Given the description of an element on the screen output the (x, y) to click on. 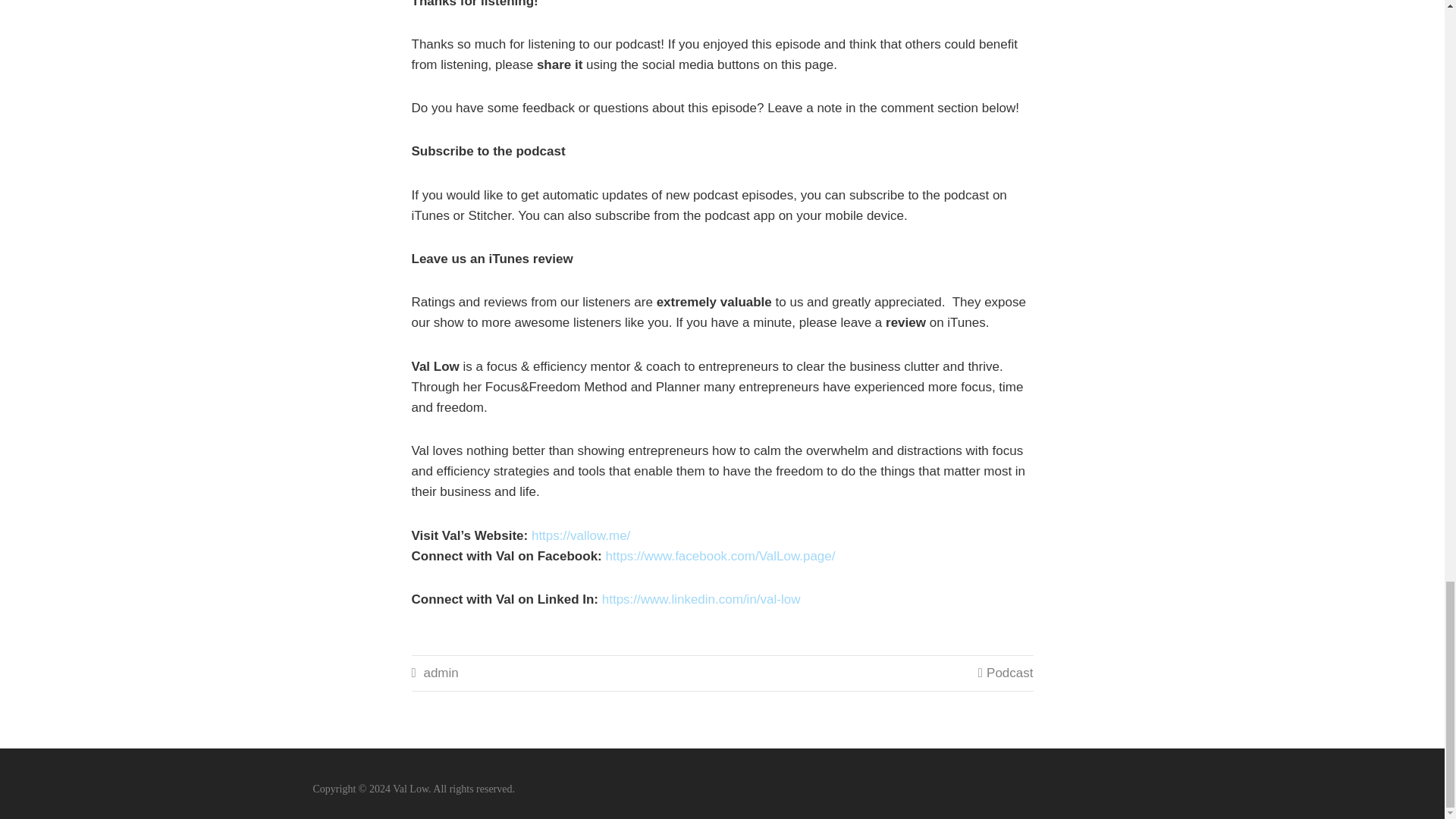
admin (440, 672)
